Given the description of an element on the screen output the (x, y) to click on. 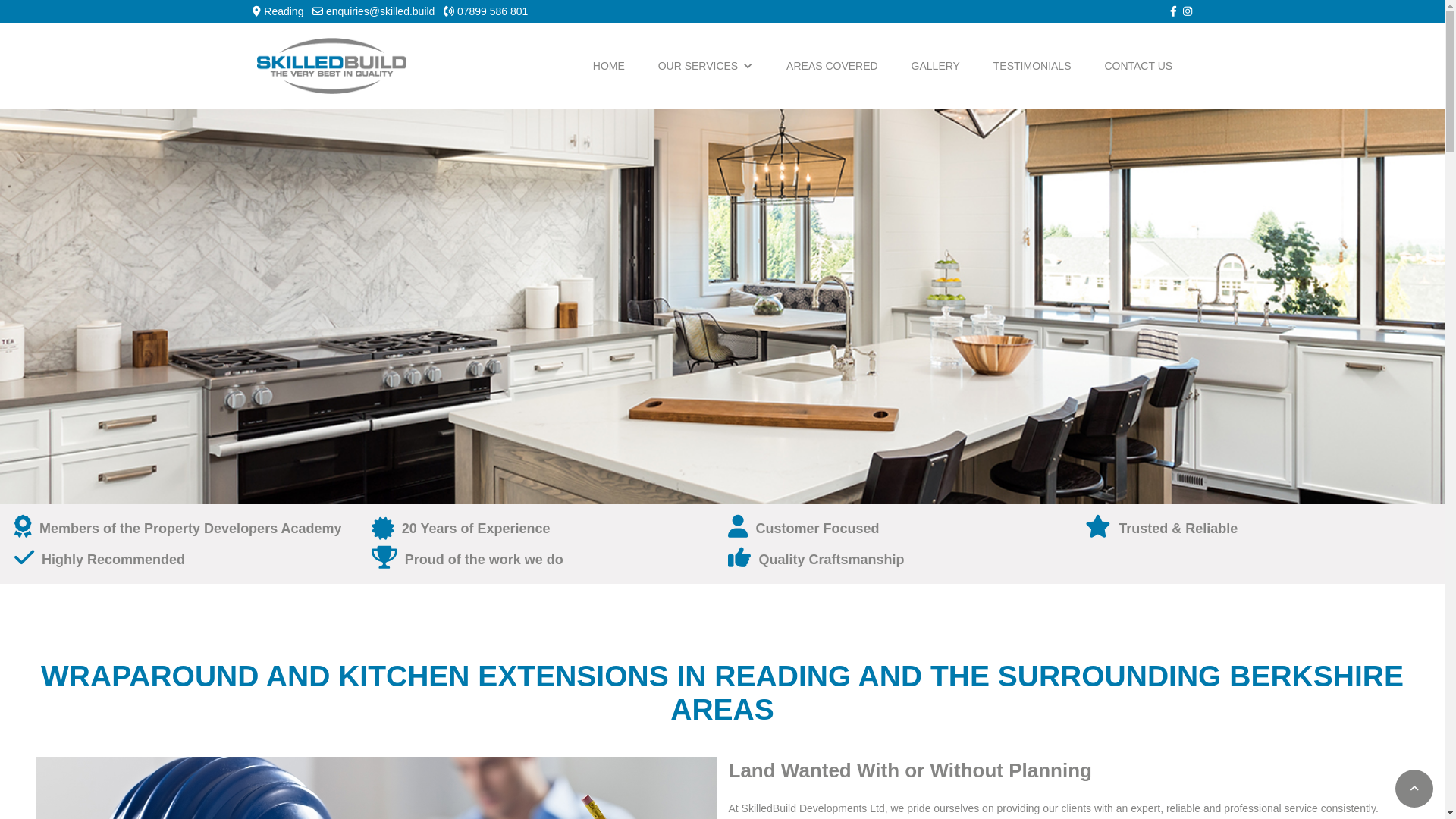
enquiries@skilled.build Element type: text (380, 11)
AREAS COVERED Element type: text (832, 65)
GALLERY Element type: text (935, 65)
TESTIMONIALS Element type: text (1032, 65)
HOME Element type: text (608, 65)
07899 586 801 Element type: text (492, 11)
CONTACT US Element type: text (1137, 65)
